Given the description of an element on the screen output the (x, y) to click on. 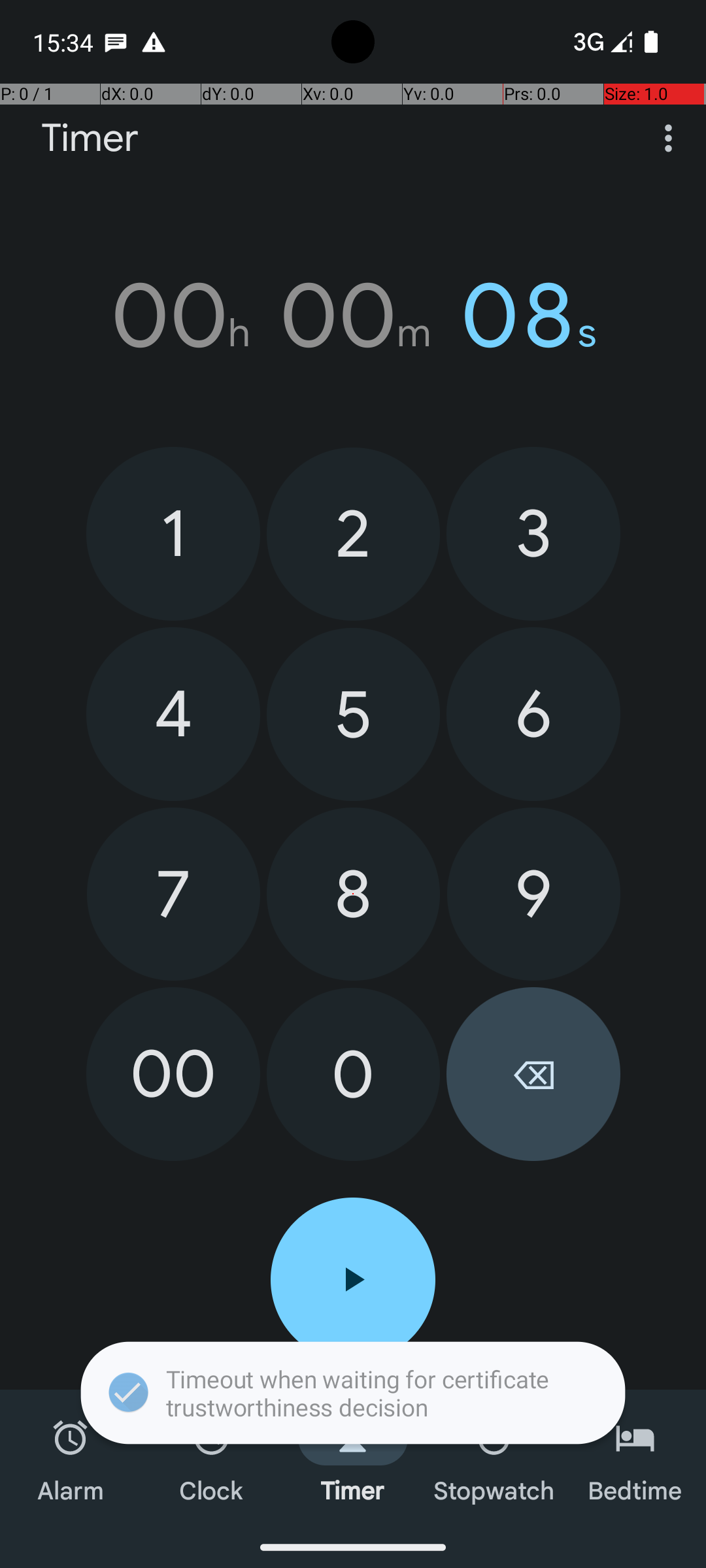
00h 00m 08s Element type: android.widget.TextView (353, 315)
